Given the description of an element on the screen output the (x, y) to click on. 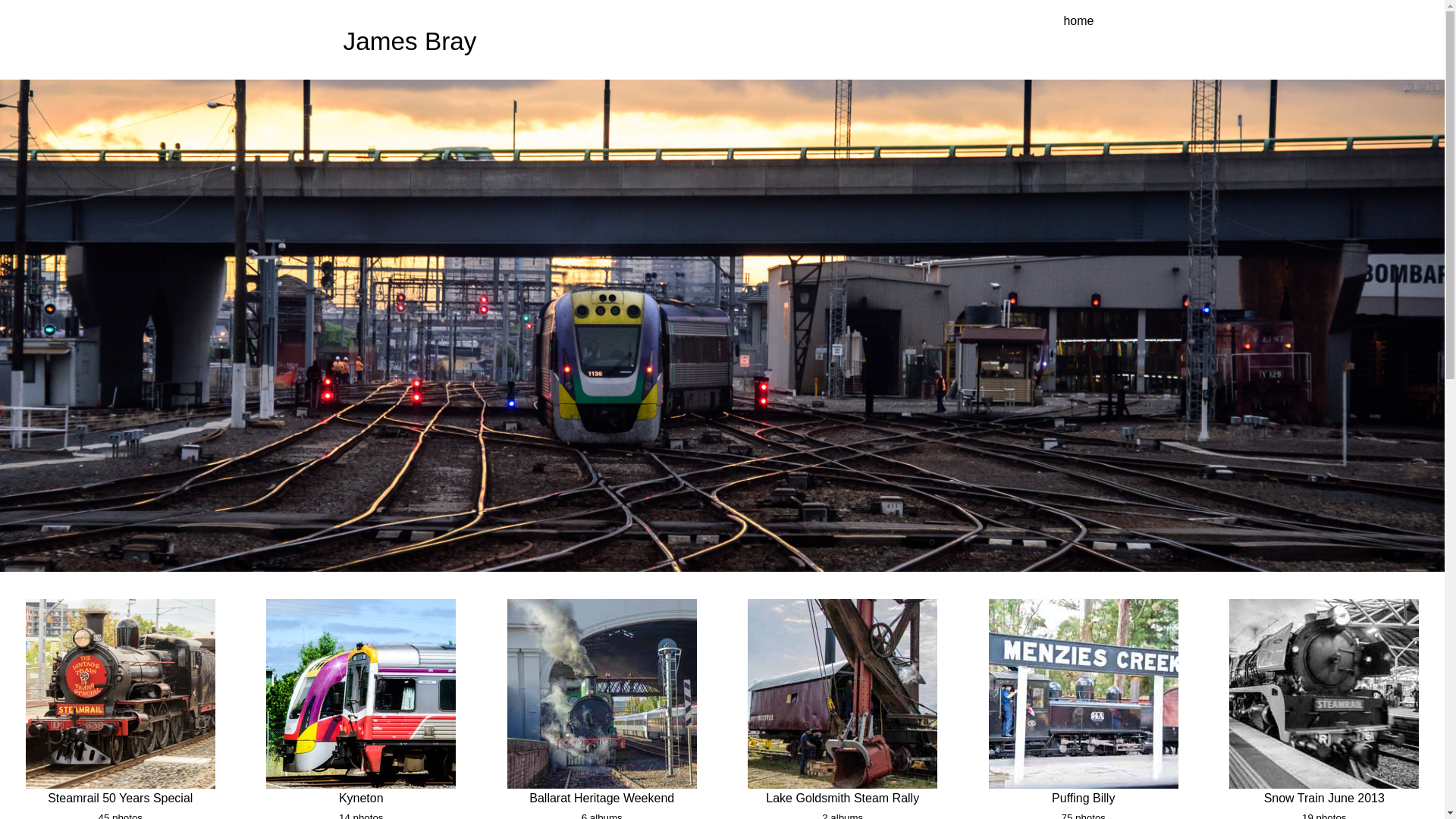
James Bray Element type: text (409, 41)
home Element type: text (1078, 20)
